Given the description of an element on the screen output the (x, y) to click on. 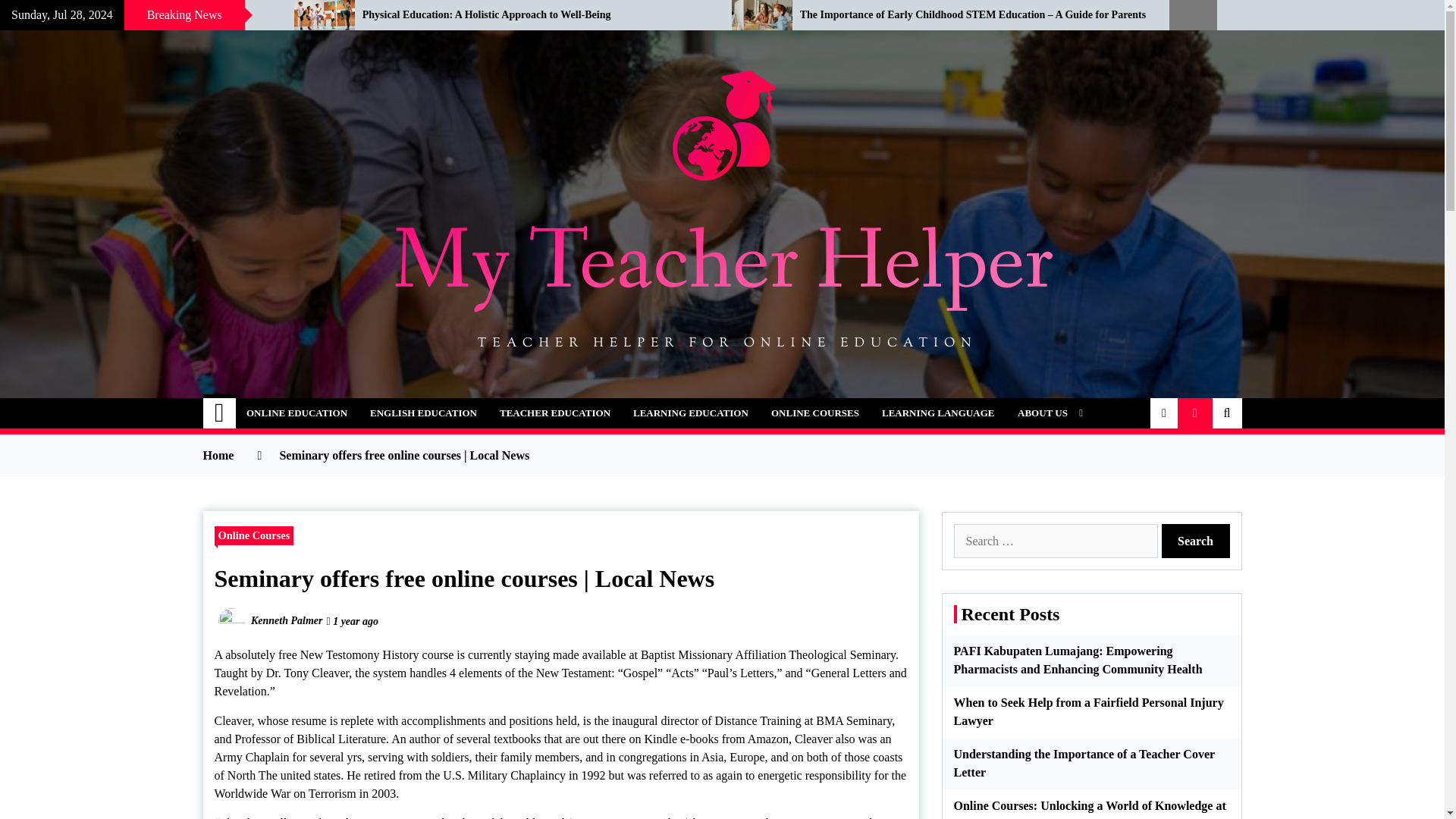
Search (1195, 540)
Physical Education: A Holistic Approach to Well-Being (535, 15)
Learning Language: A Journey to Multilingual Mastery (135, 15)
Search (1195, 540)
Home (219, 413)
